Given the description of an element on the screen output the (x, y) to click on. 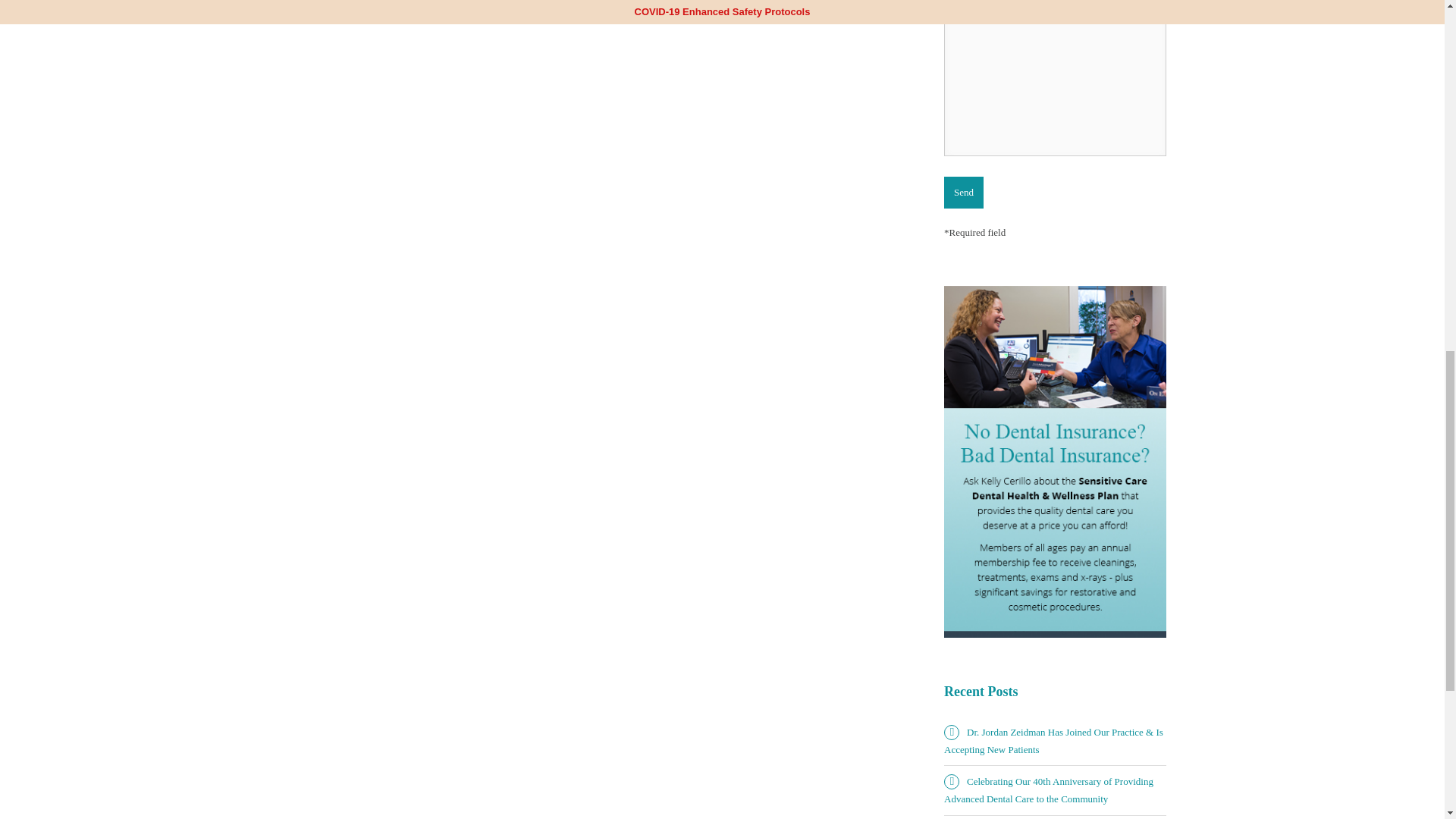
Send (963, 192)
